Given the description of an element on the screen output the (x, y) to click on. 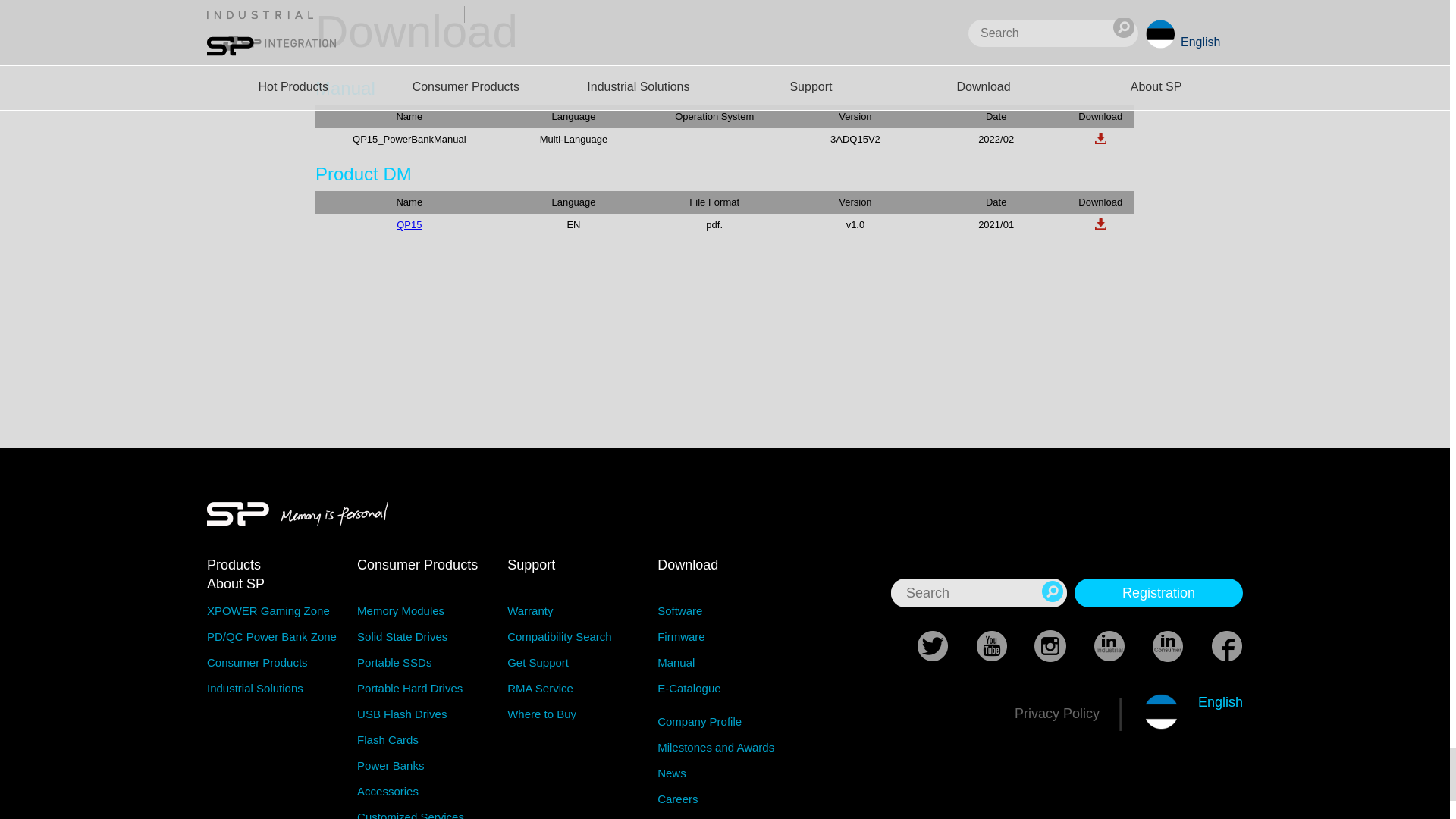
youtube (978, 646)
facebook (1213, 646)
Instagram (1037, 646)
twitter (919, 646)
